Given the description of an element on the screen output the (x, y) to click on. 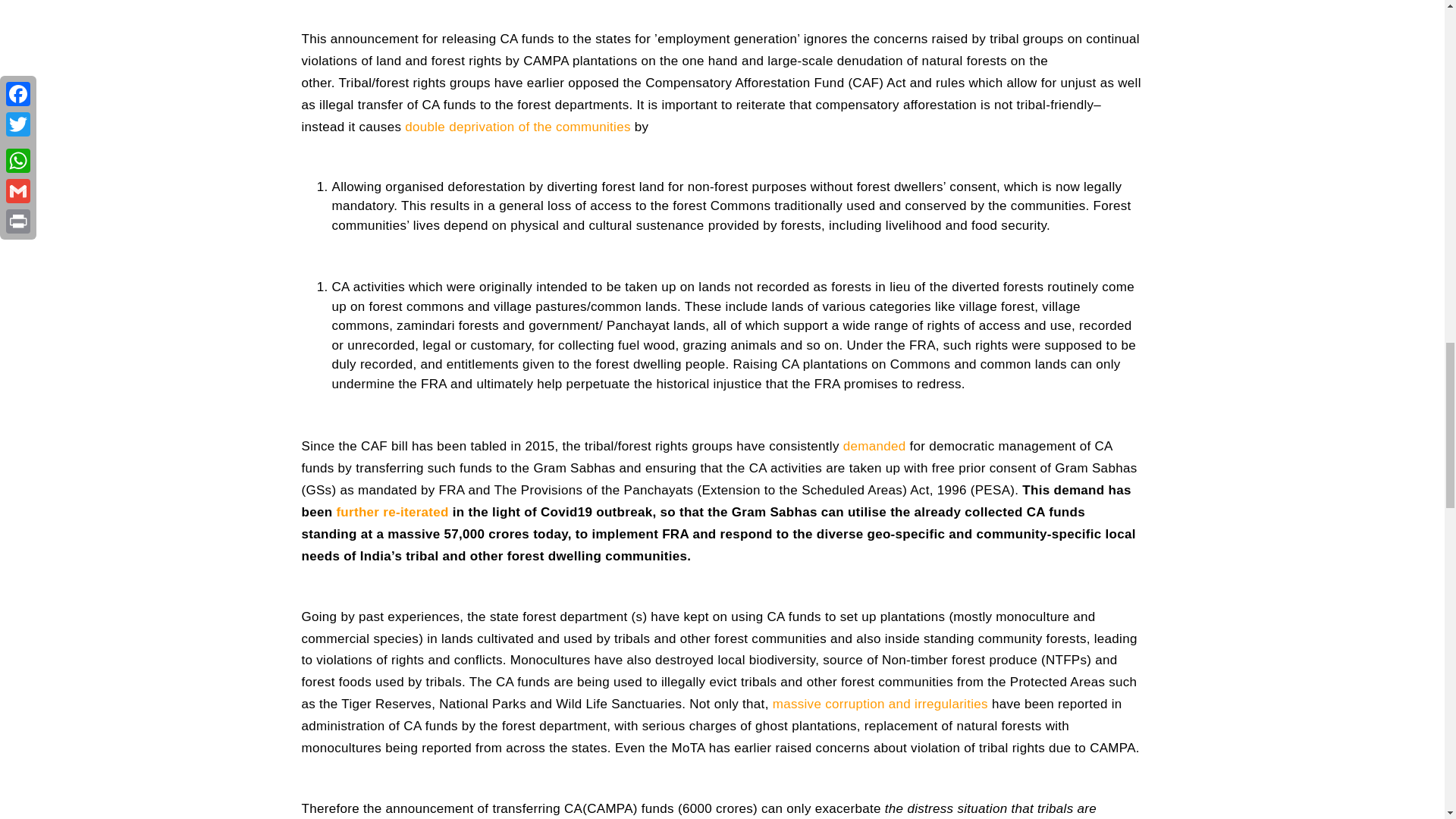
double deprivation of the communities (517, 126)
demanded (874, 445)
massive corruption and irregularities (880, 703)
further re-iterated (392, 512)
